Given the description of an element on the screen output the (x, y) to click on. 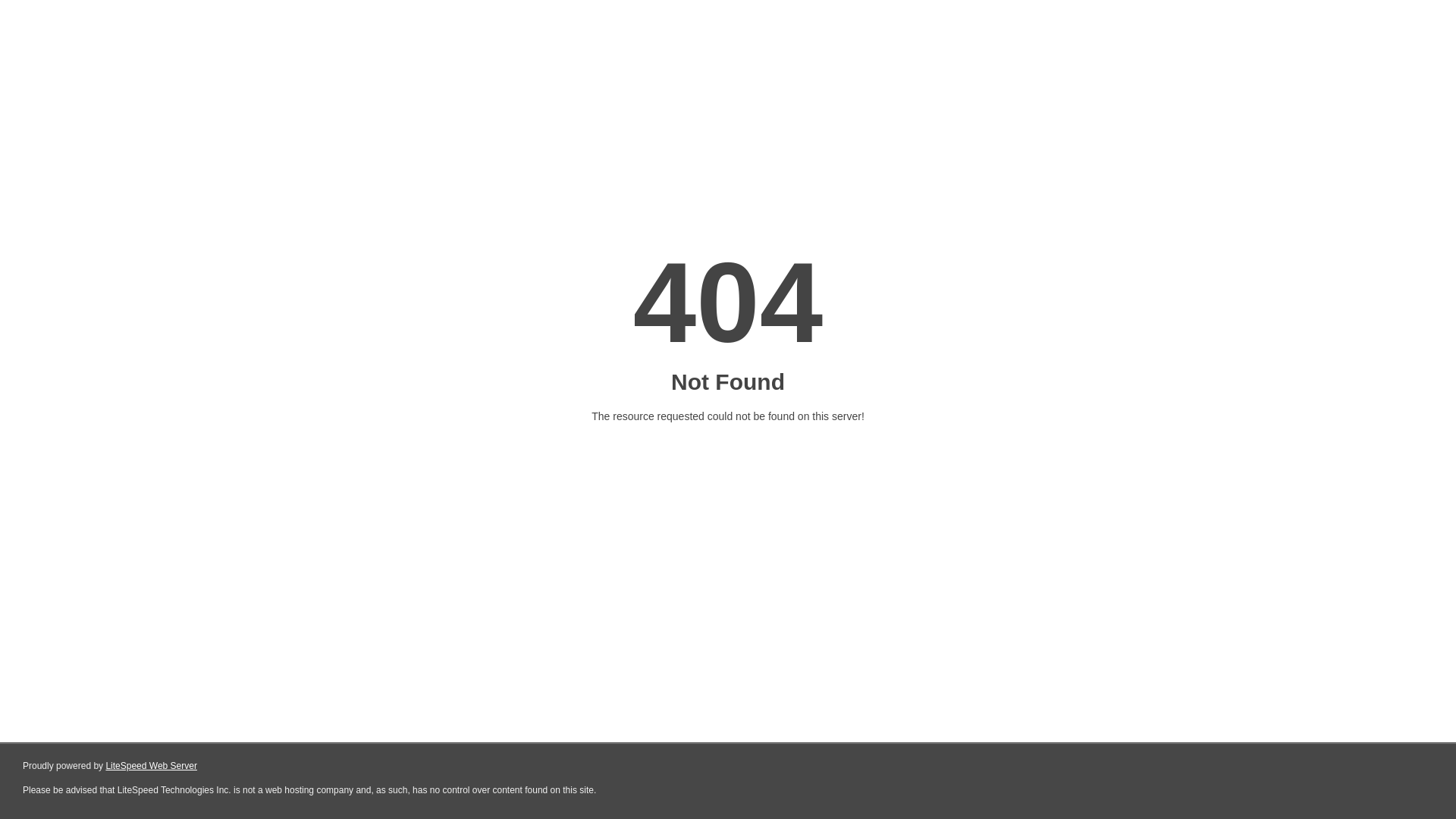
LiteSpeed Web Server Element type: text (151, 765)
